Given the description of an element on the screen output the (x, y) to click on. 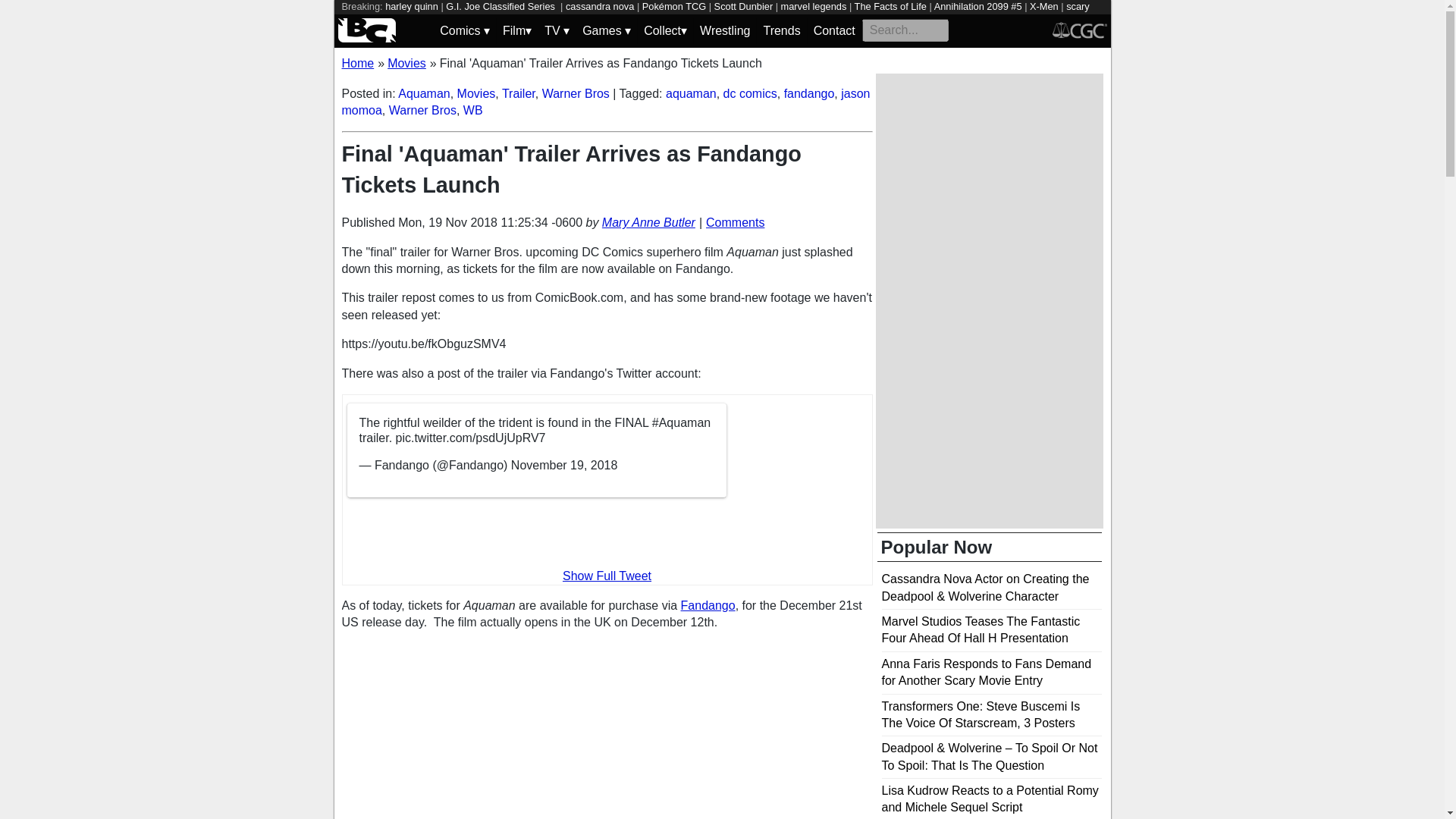
Toggle Dropdown (516, 30)
Scott Dunbier (743, 6)
harley quinn (411, 6)
G.I. Joe Classified Series  (501, 6)
godzilla (458, 19)
star wars (619, 19)
Toggle Dropdown (556, 30)
marvel legends (813, 6)
Toggle Dropdown (665, 30)
Mon, 19 Nov 2018 11:25:34 -0600 (489, 222)
cassandra nova (599, 6)
Toggle Dropdown (464, 30)
scary movie (714, 12)
X-Men (1043, 6)
Arranger (393, 19)
